Given the description of an element on the screen output the (x, y) to click on. 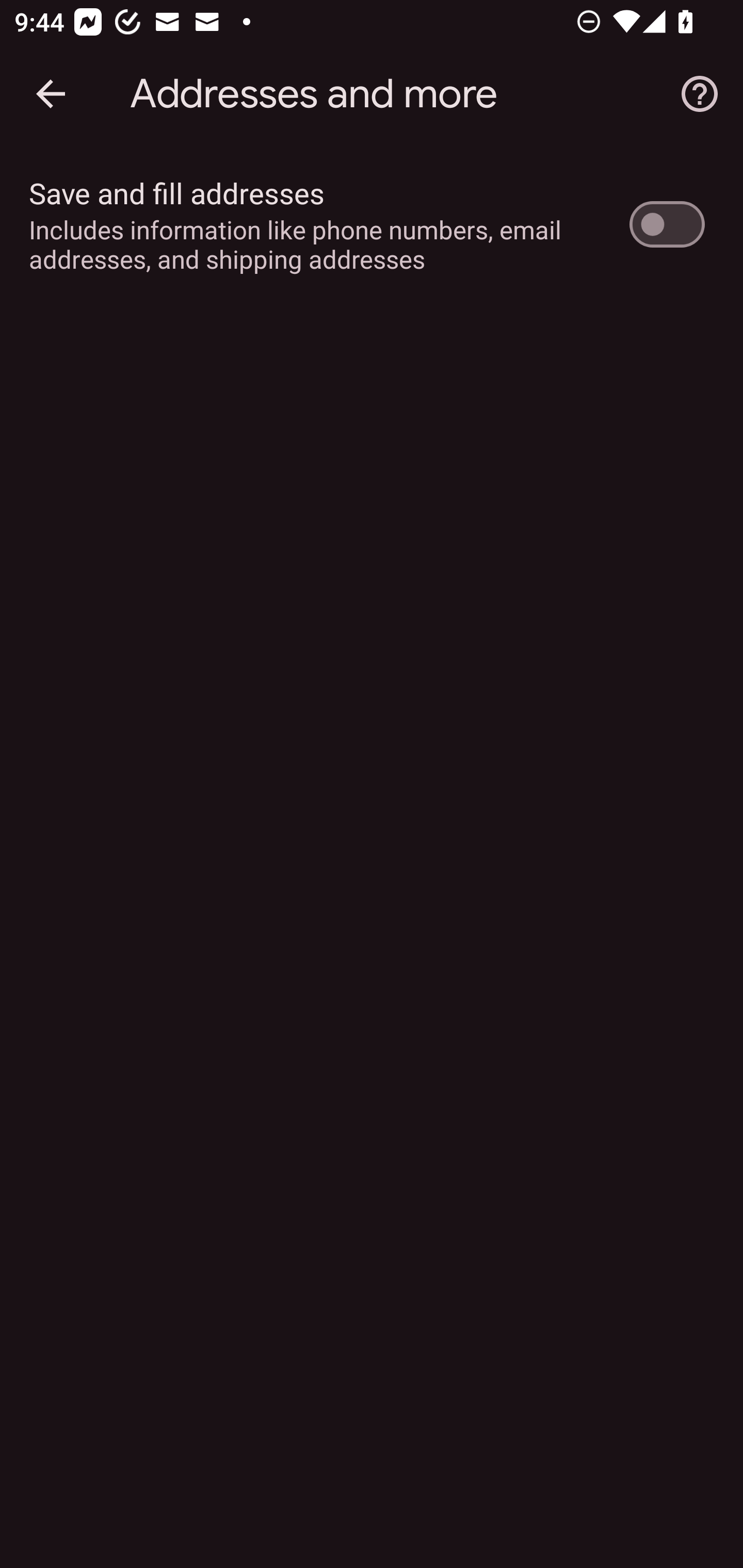
Navigate up (50, 93)
Help & feedback (699, 93)
